Given the description of an element on the screen output the (x, y) to click on. 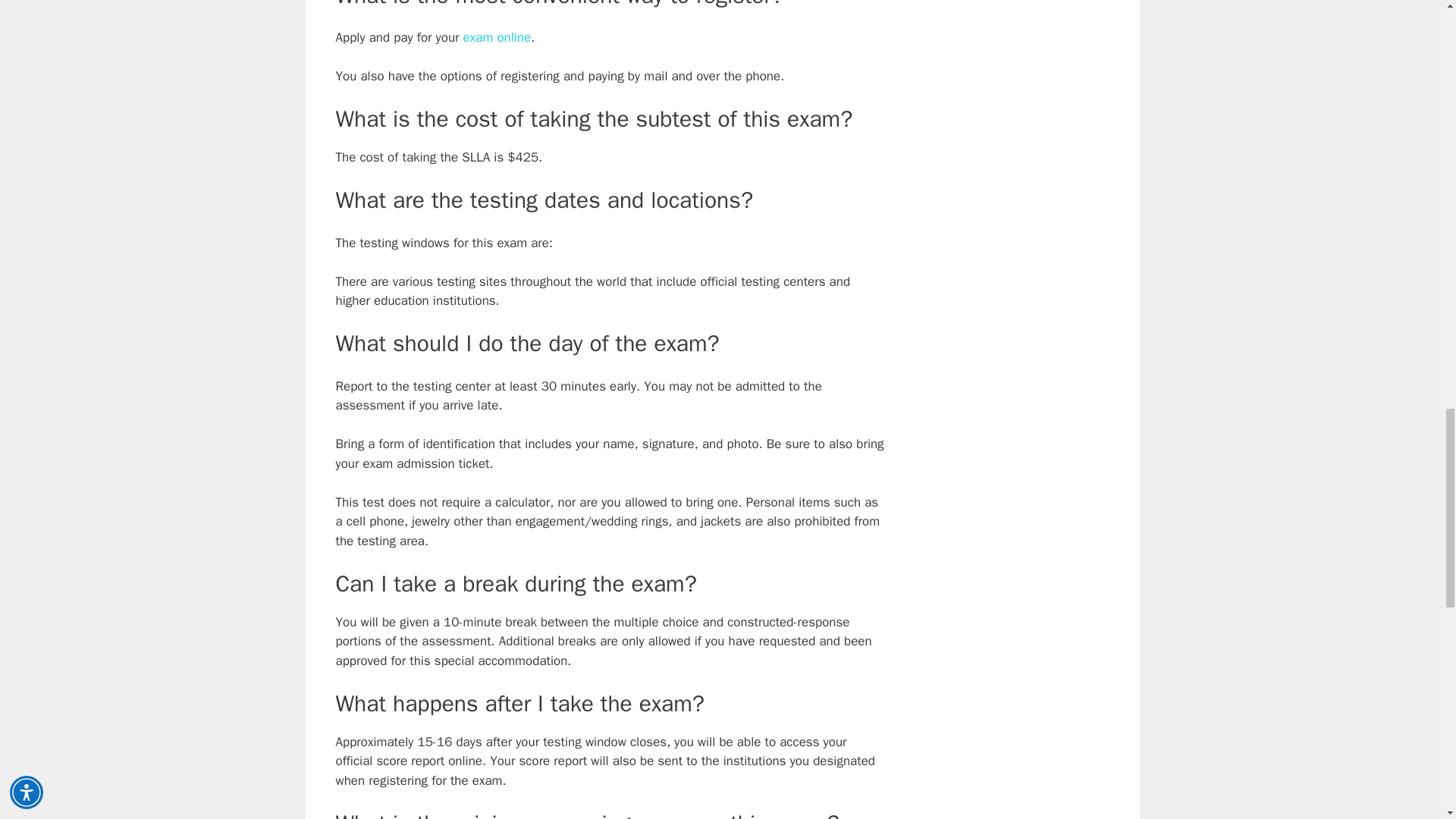
exam online (497, 37)
